Given the description of an element on the screen output the (x, y) to click on. 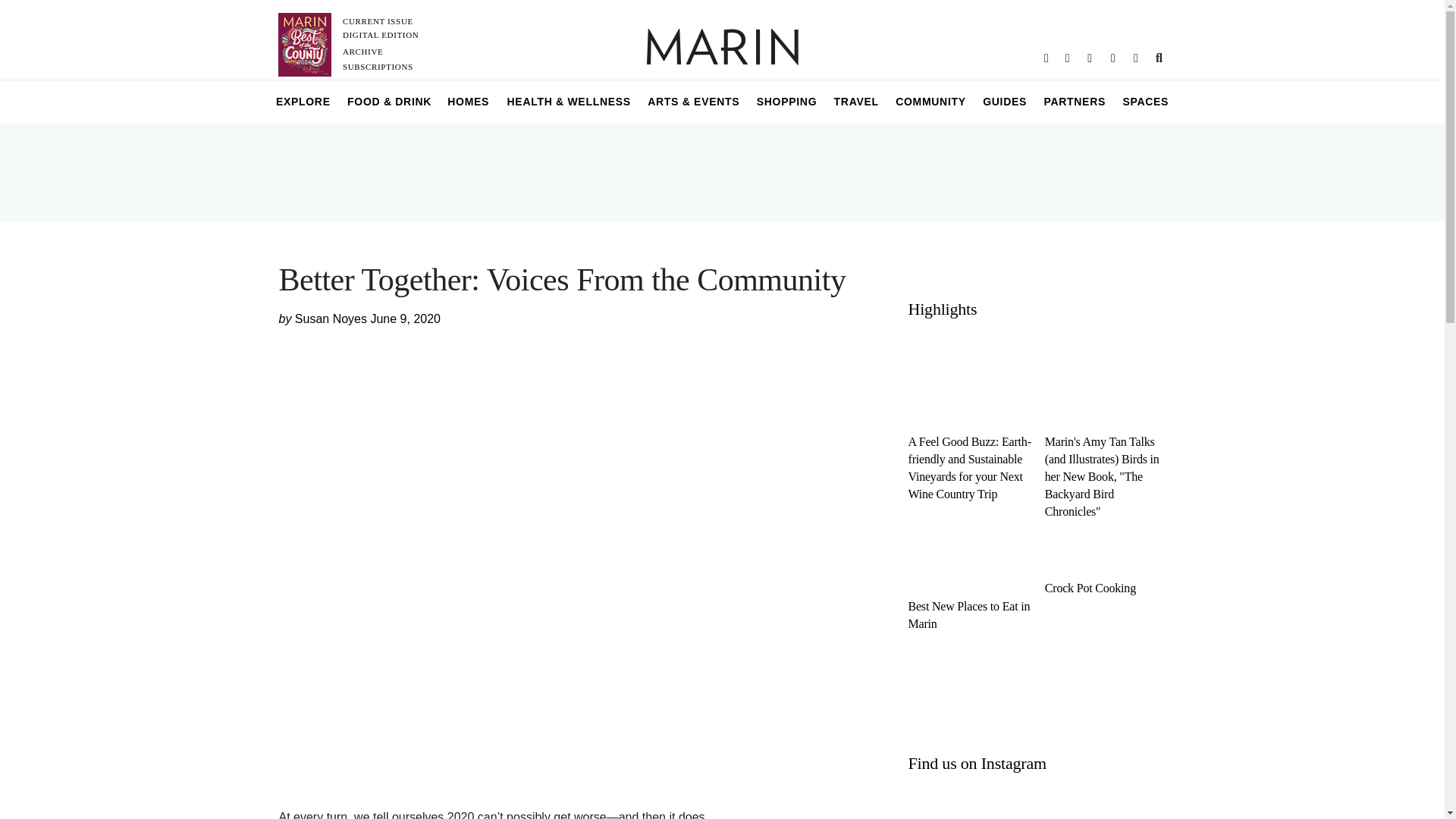
CURRENT ISSUE (377, 20)
EXPLORE (303, 102)
HOMES (468, 102)
ARCHIVE (362, 51)
DIGITAL EDITION (380, 34)
SUBSCRIPTIONS (377, 66)
